Given the description of an element on the screen output the (x, y) to click on. 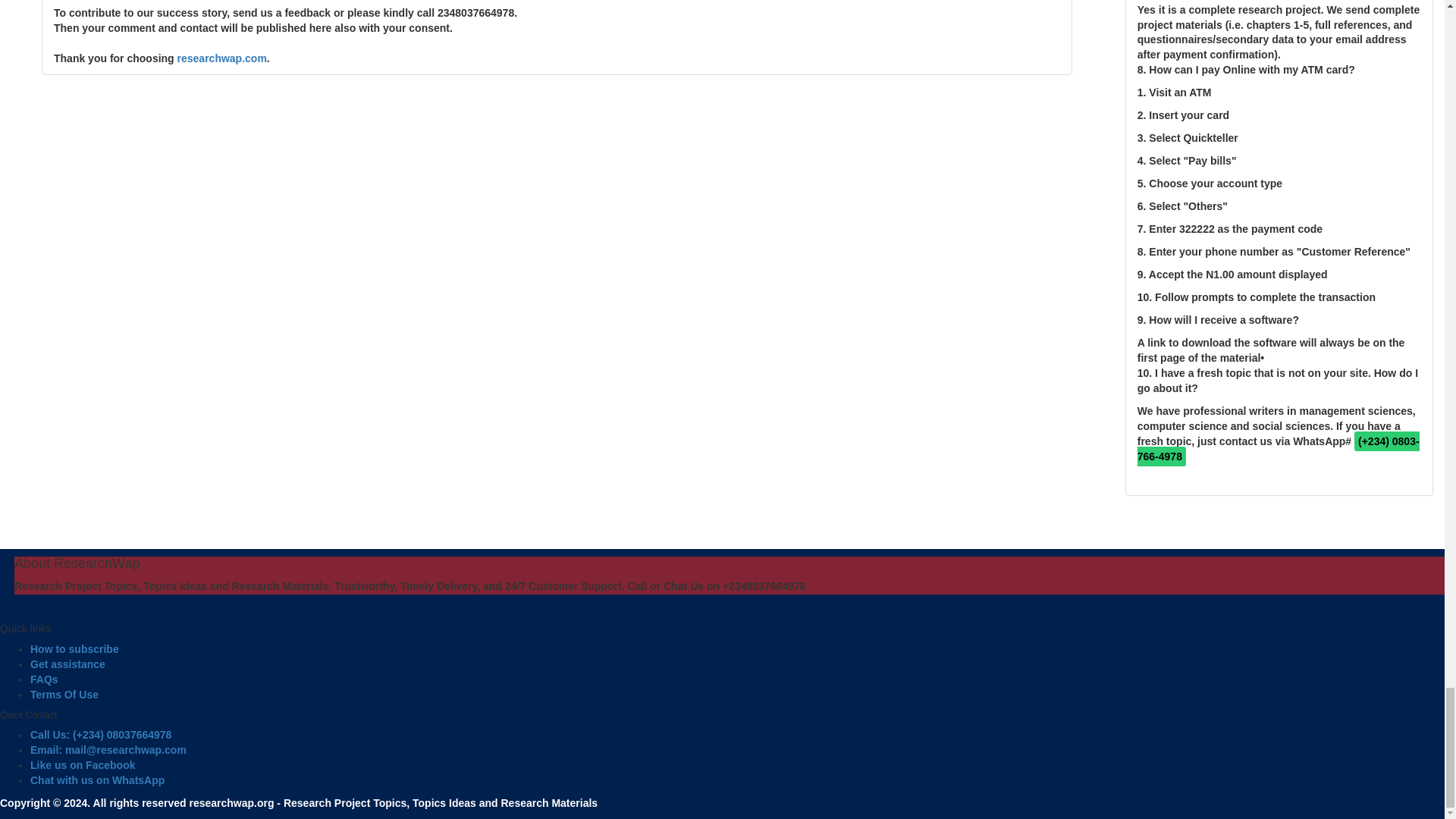
researchwap.com (221, 58)
